Given the description of an element on the screen output the (x, y) to click on. 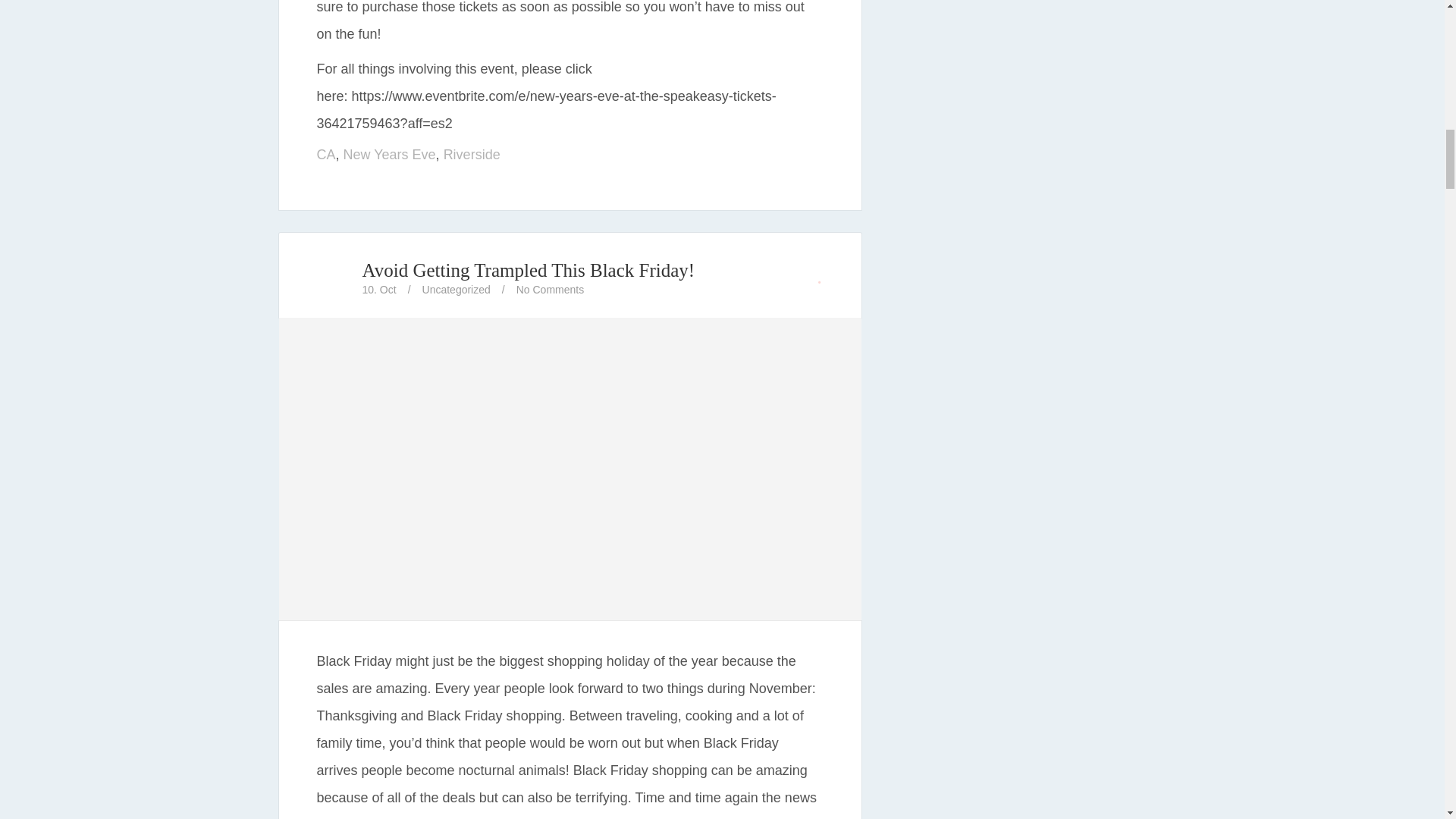
Avoid Getting Trampled This Black Friday! (570, 607)
Riverside (472, 154)
New Years Eve (389, 154)
View all posts in Uncategorized (456, 289)
Uncategorized (456, 289)
CA (326, 154)
Avoid Getting Trampled This Black Friday! (528, 270)
Author Name (331, 278)
No Comments (549, 289)
